Given the description of an element on the screen output the (x, y) to click on. 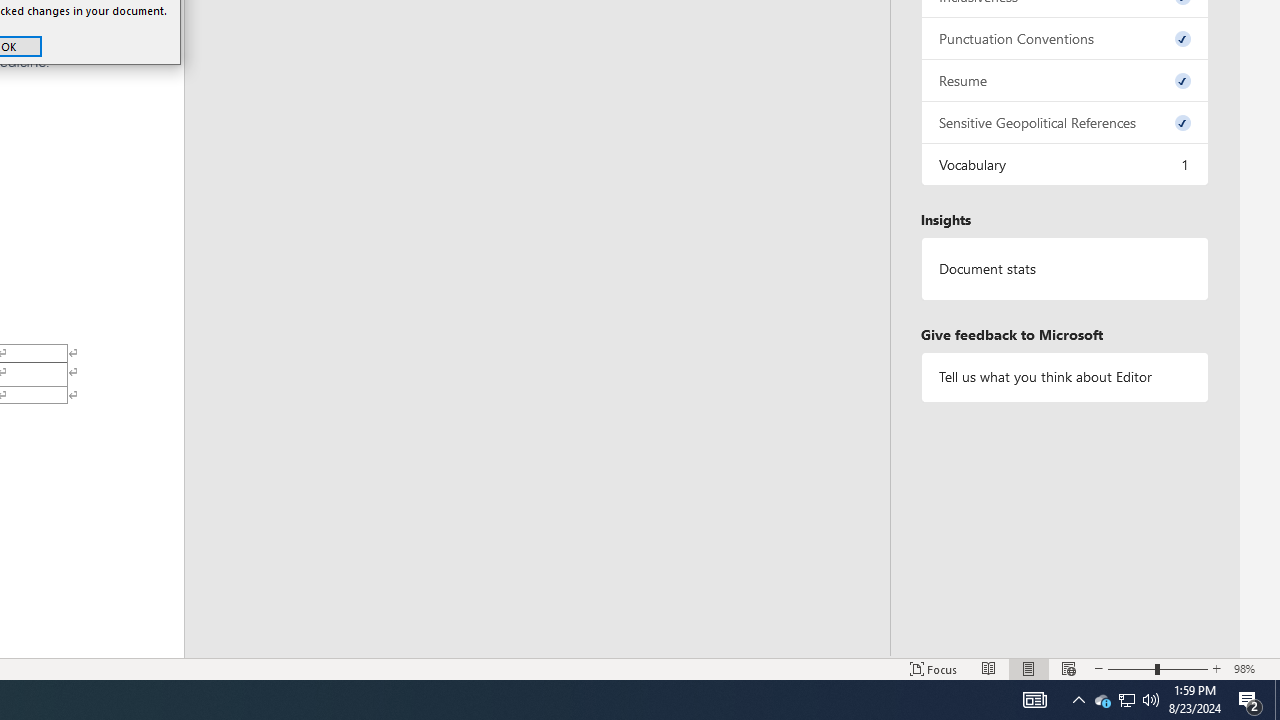
Zoom (1158, 668)
Document statistics (1064, 269)
Notification Chevron (1078, 699)
User Promoted Notification Area (1126, 699)
Vocabulary, 1 issue. Press space or enter to review items. (1064, 164)
Resume, 0 issues. Press space or enter to review items. (1064, 79)
Show desktop (1126, 699)
